Given the description of an element on the screen output the (x, y) to click on. 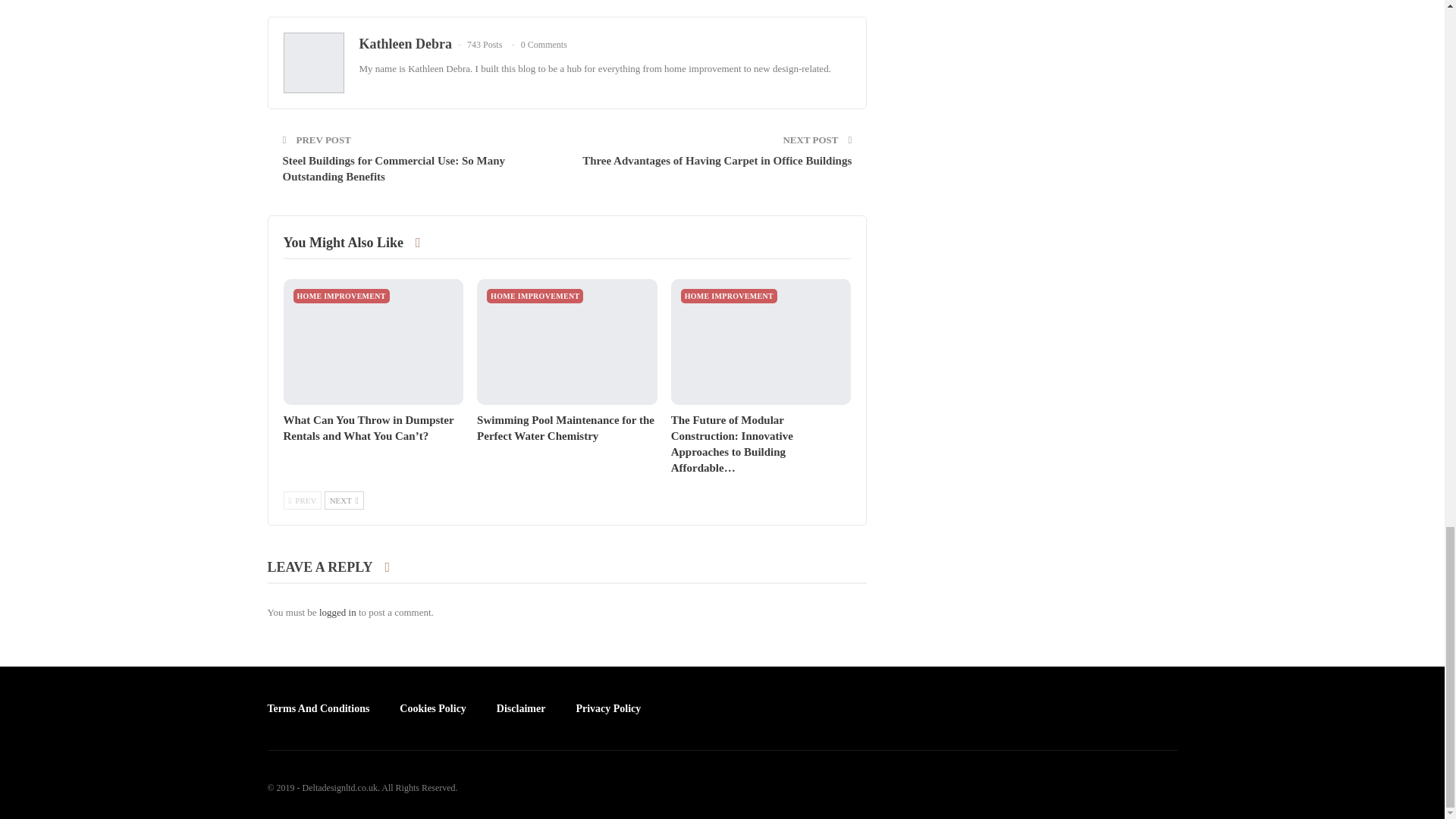
Swimming Pool Maintenance for the Perfect Water Chemistry (565, 428)
Swimming Pool Maintenance for the Perfect Water Chemistry (565, 428)
You Might Also Like (358, 242)
HOME IMPROVEMENT (340, 296)
Three Advantages of Having Carpet in Office Buildings (716, 160)
Kathleen Debra (405, 43)
Swimming Pool Maintenance for the Perfect Water Chemistry (567, 341)
